Given the description of an element on the screen output the (x, y) to click on. 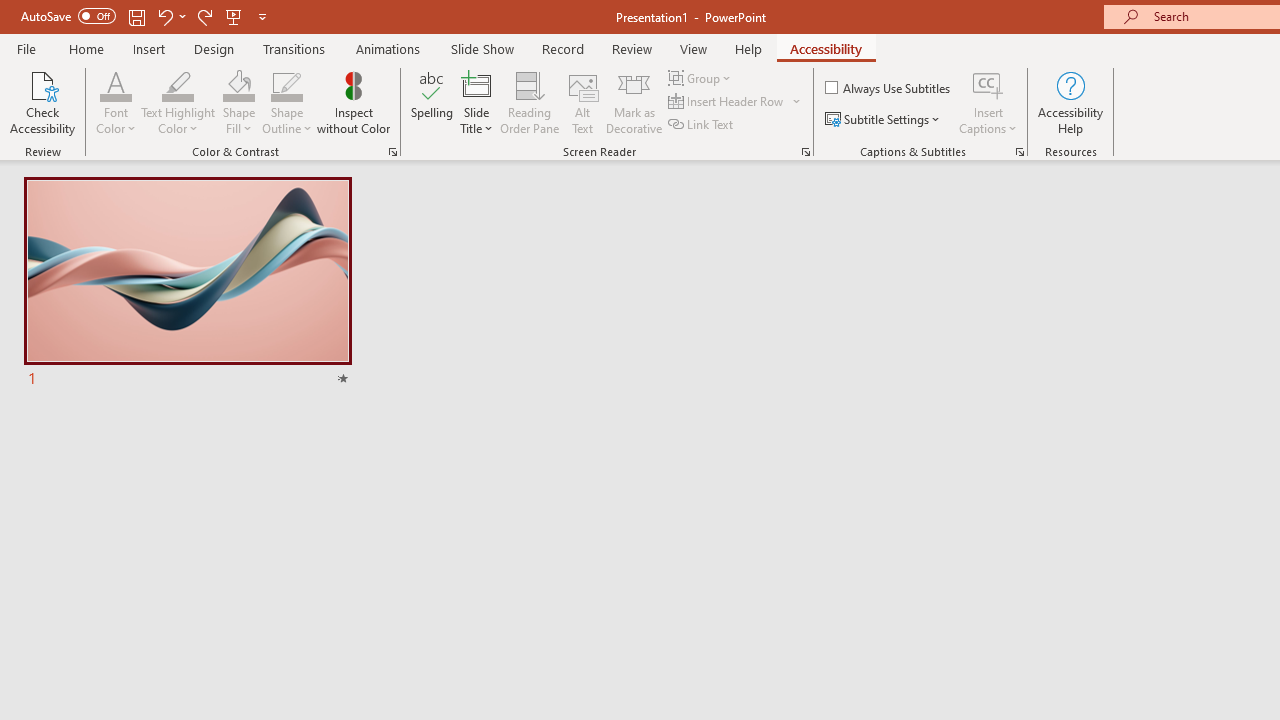
Screen Reader (805, 151)
Insert Header Row (735, 101)
Insert Header Row (727, 101)
Accessibility Help (1070, 102)
Group (701, 78)
